Given the description of an element on the screen output the (x, y) to click on. 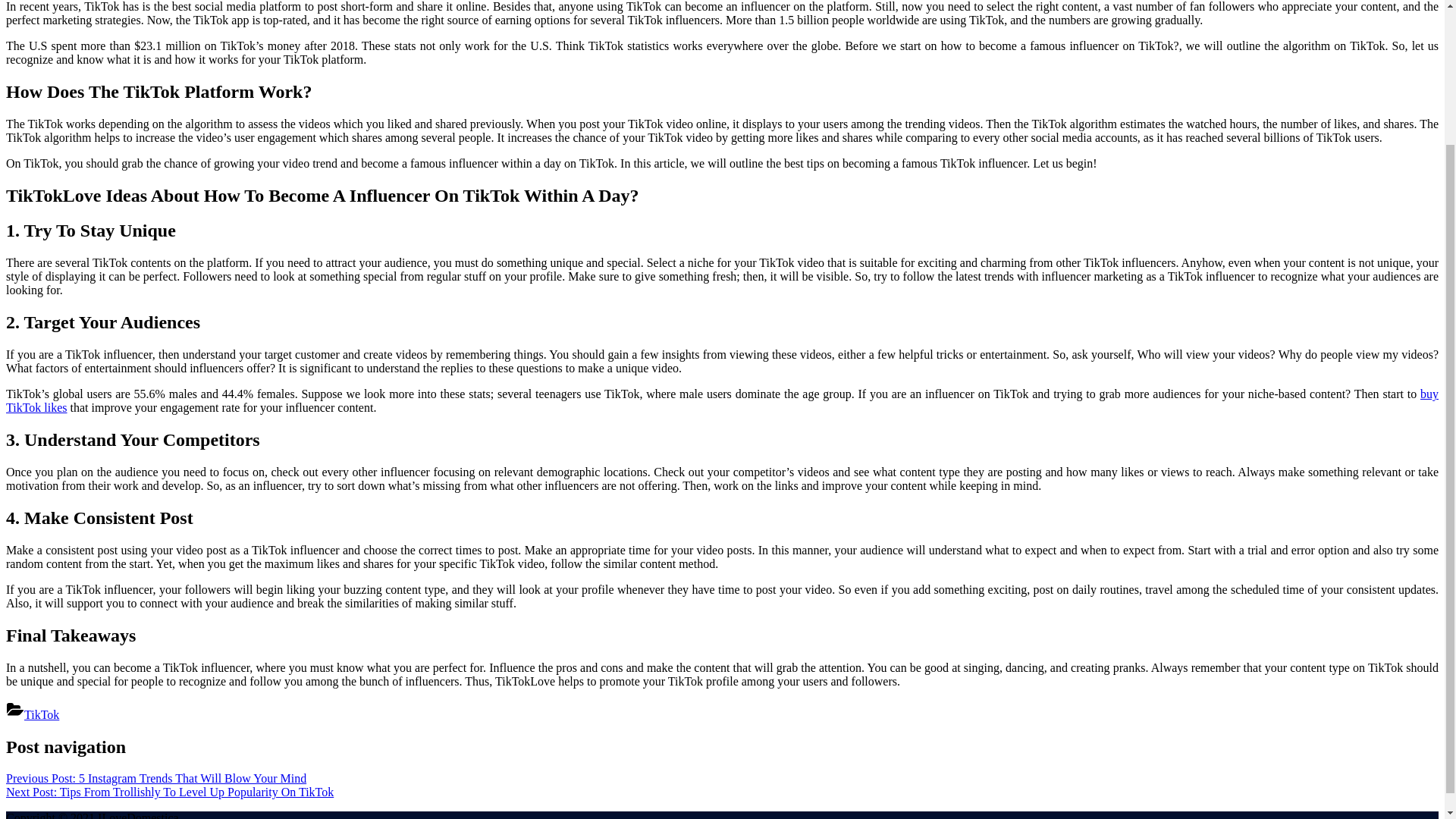
TikTok (41, 714)
Previous Post: 5 Instagram Trends That Will Blow Your Mind (155, 778)
